Given the description of an element on the screen output the (x, y) to click on. 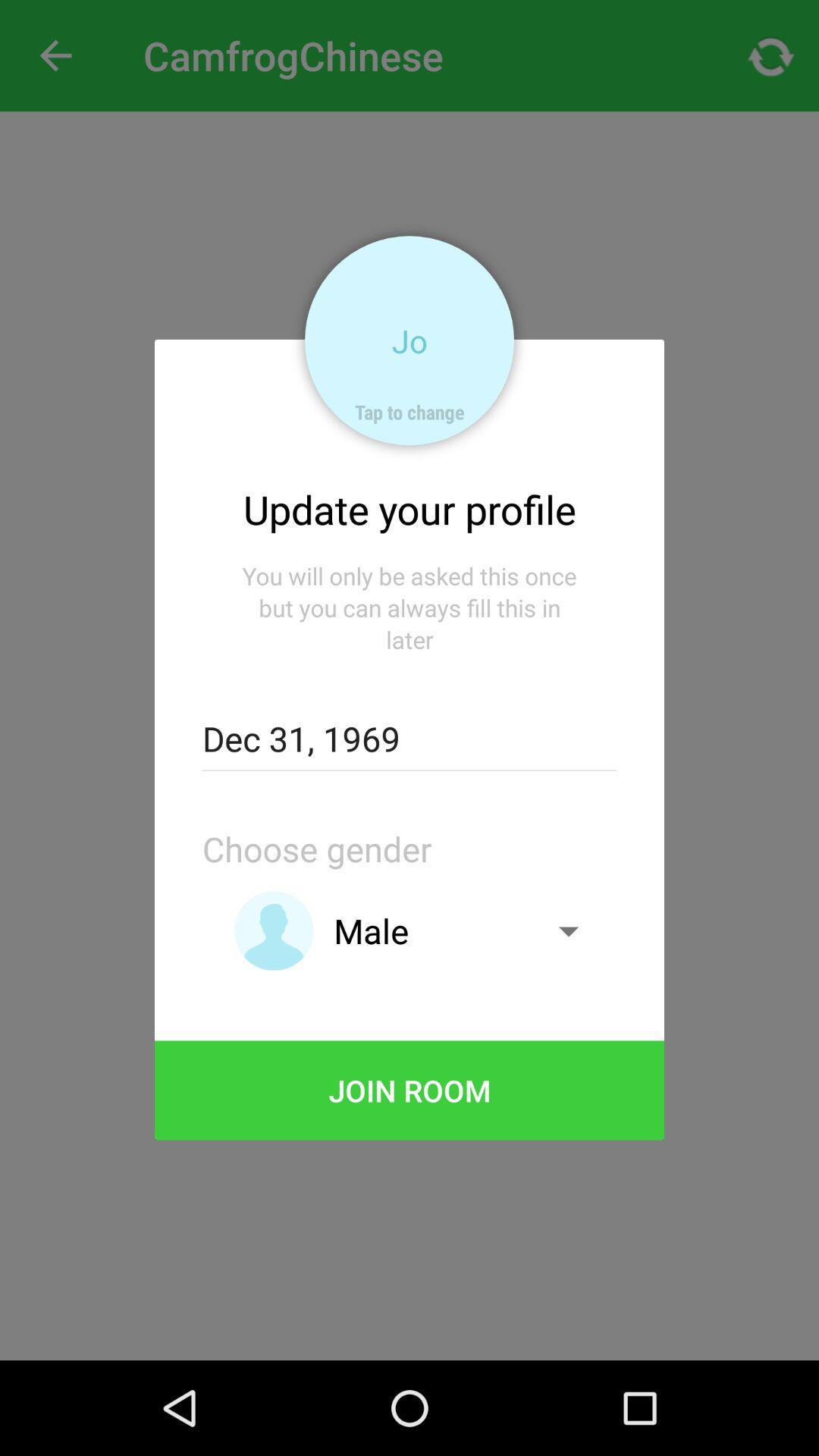
scroll to the dec 31, 1969 icon (409, 739)
